Given the description of an element on the screen output the (x, y) to click on. 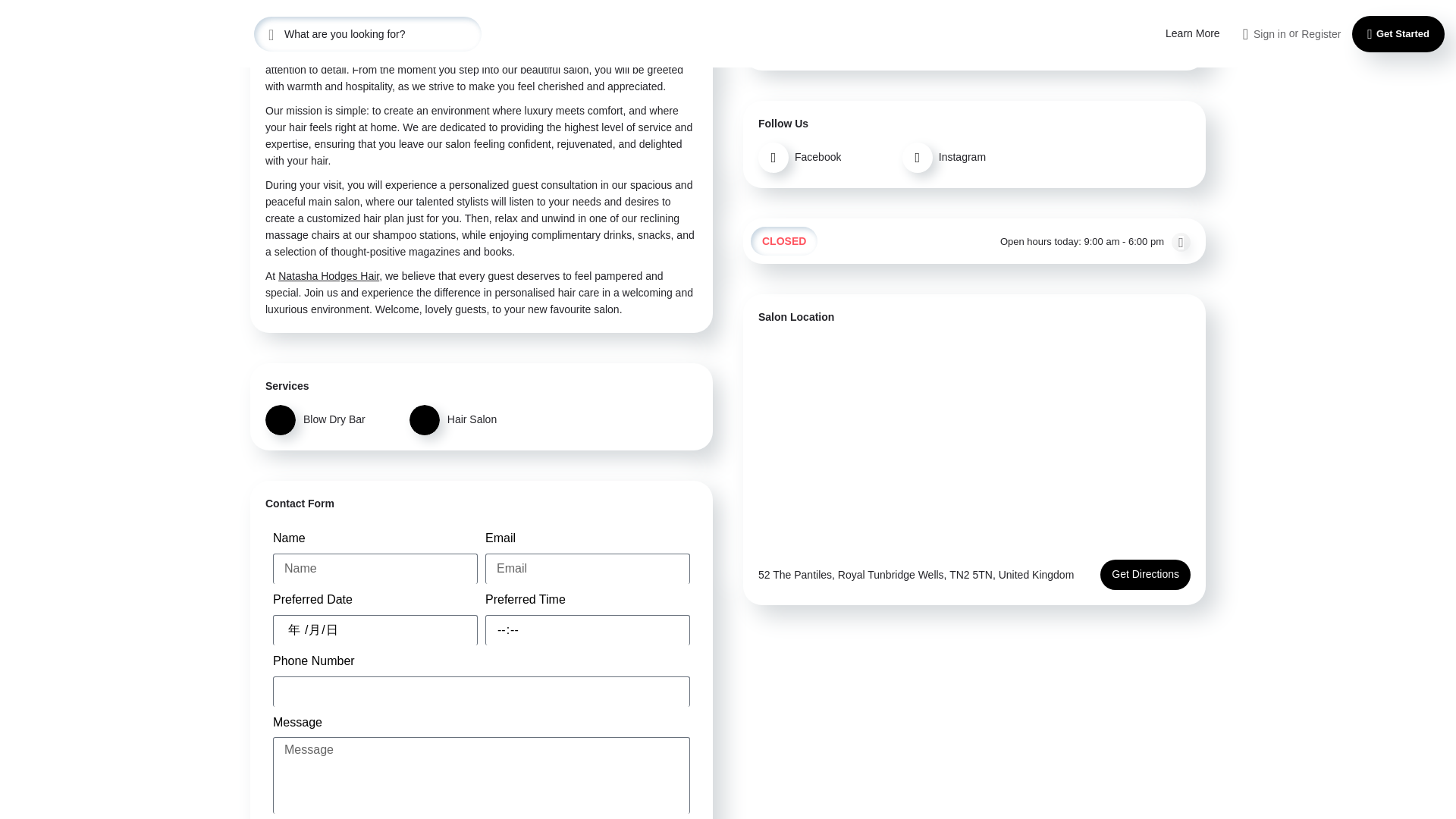
Blow Dry Bar (332, 419)
Instagram (970, 157)
Natasha Hodges Hair (328, 275)
Facebook (826, 157)
Get Directions (1145, 574)
Hair Salon (477, 419)
Natasha Hodges Hair (374, 0)
